Given the description of an element on the screen output the (x, y) to click on. 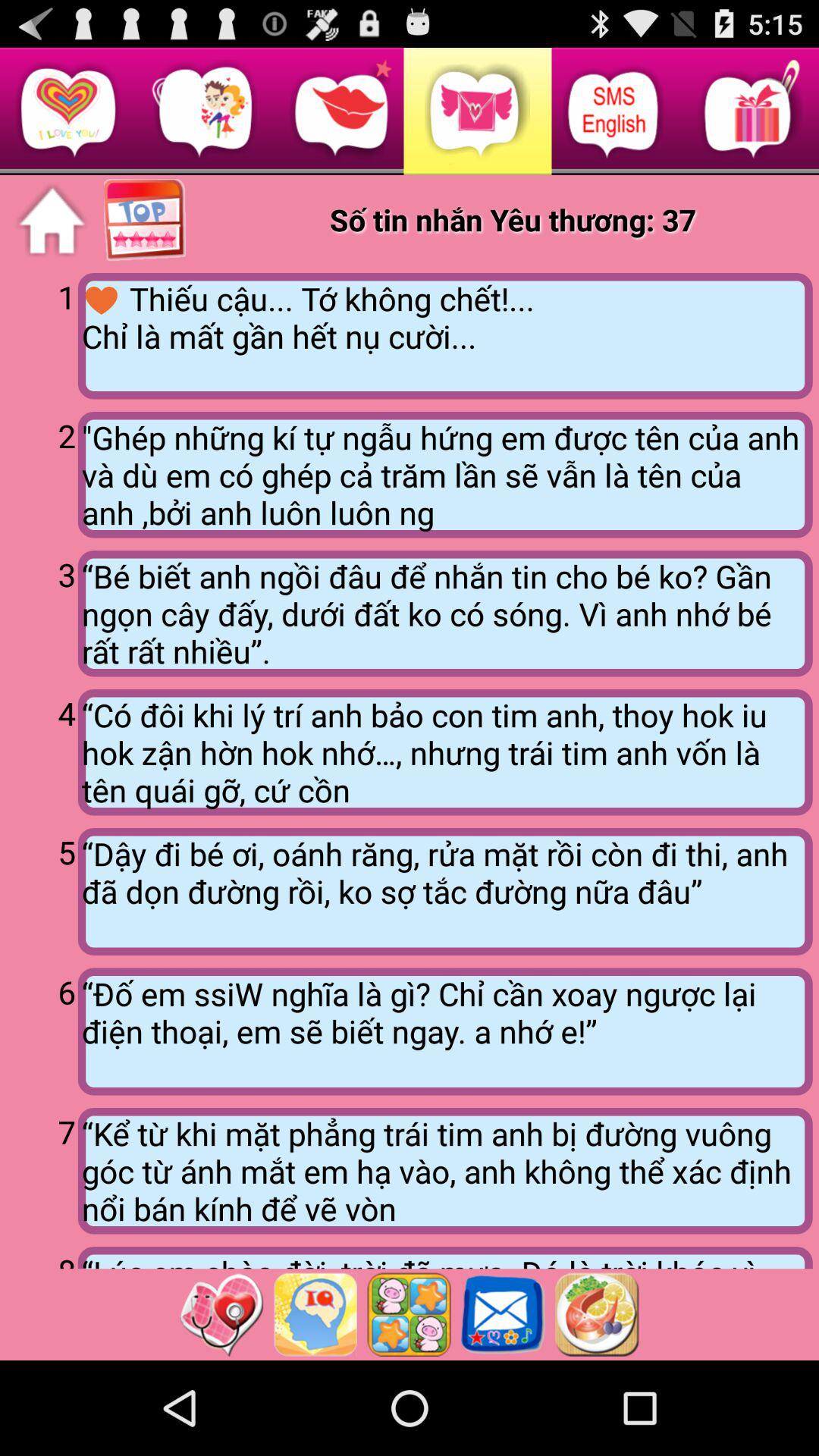
tap the icon next to 6 app (444, 1031)
